Given the description of an element on the screen output the (x, y) to click on. 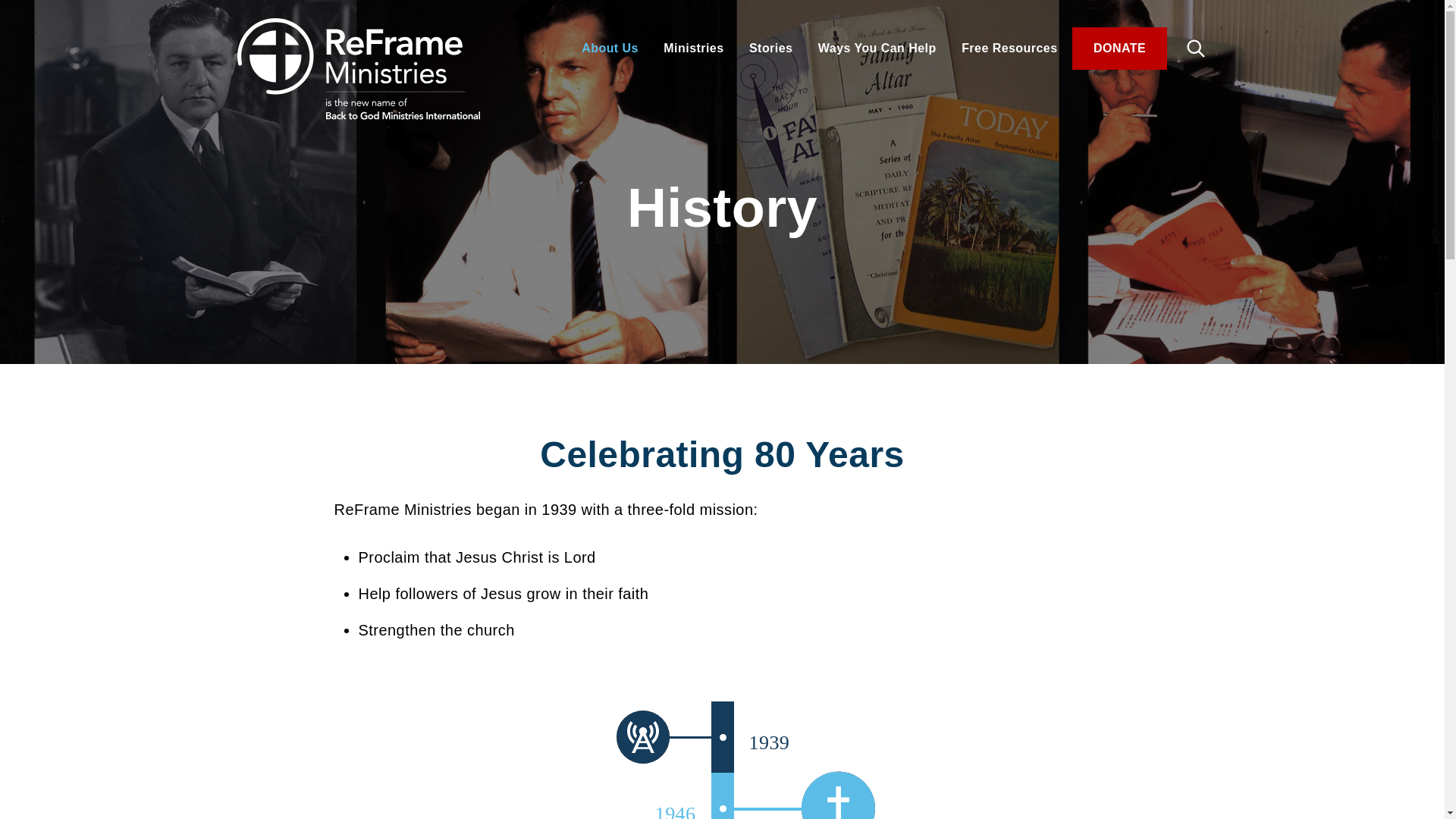
About Us (609, 48)
